Given the description of an element on the screen output the (x, y) to click on. 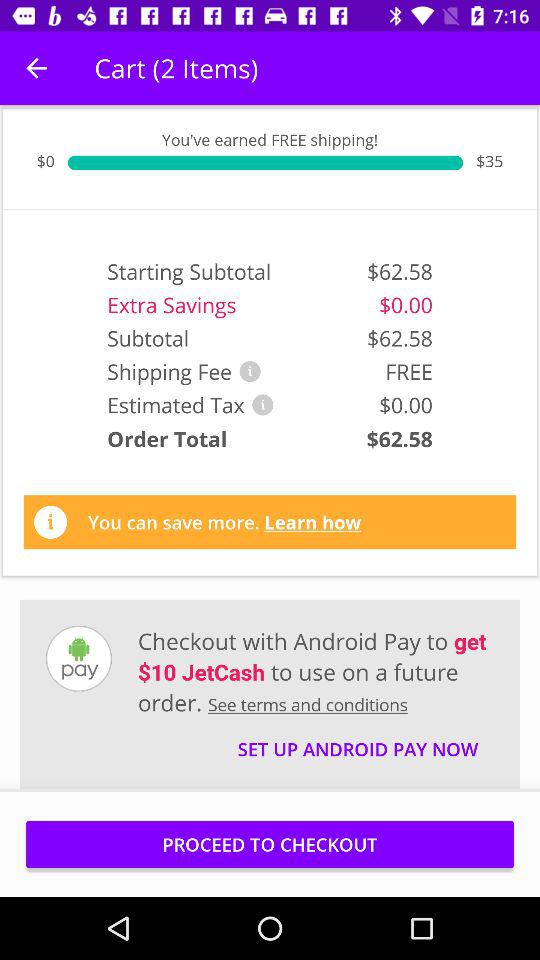
launch checkout with android icon (315, 671)
